Given the description of an element on the screen output the (x, y) to click on. 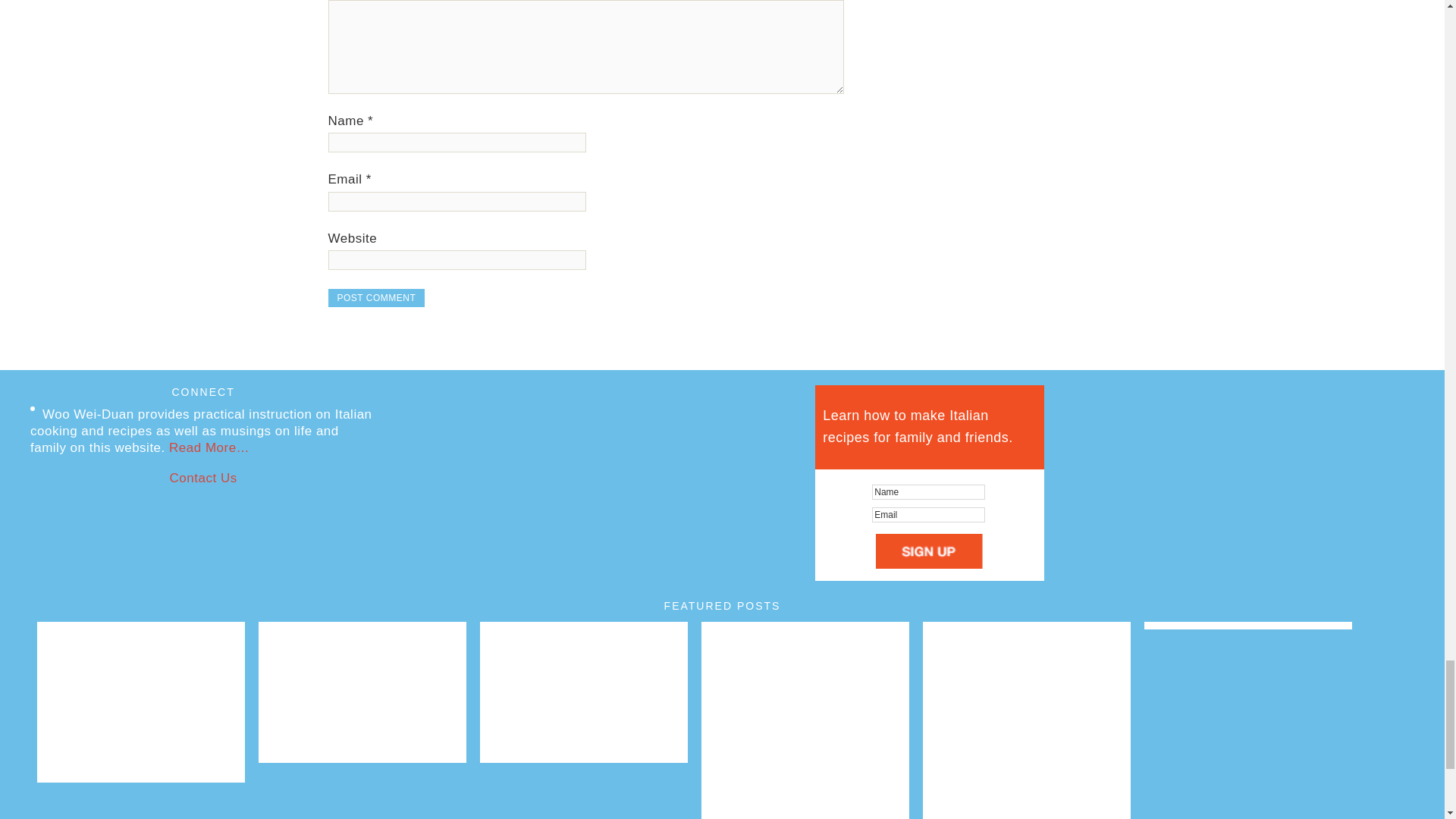
Post Comment (376, 298)
Email (928, 514)
Name (928, 491)
